Given the description of an element on the screen output the (x, y) to click on. 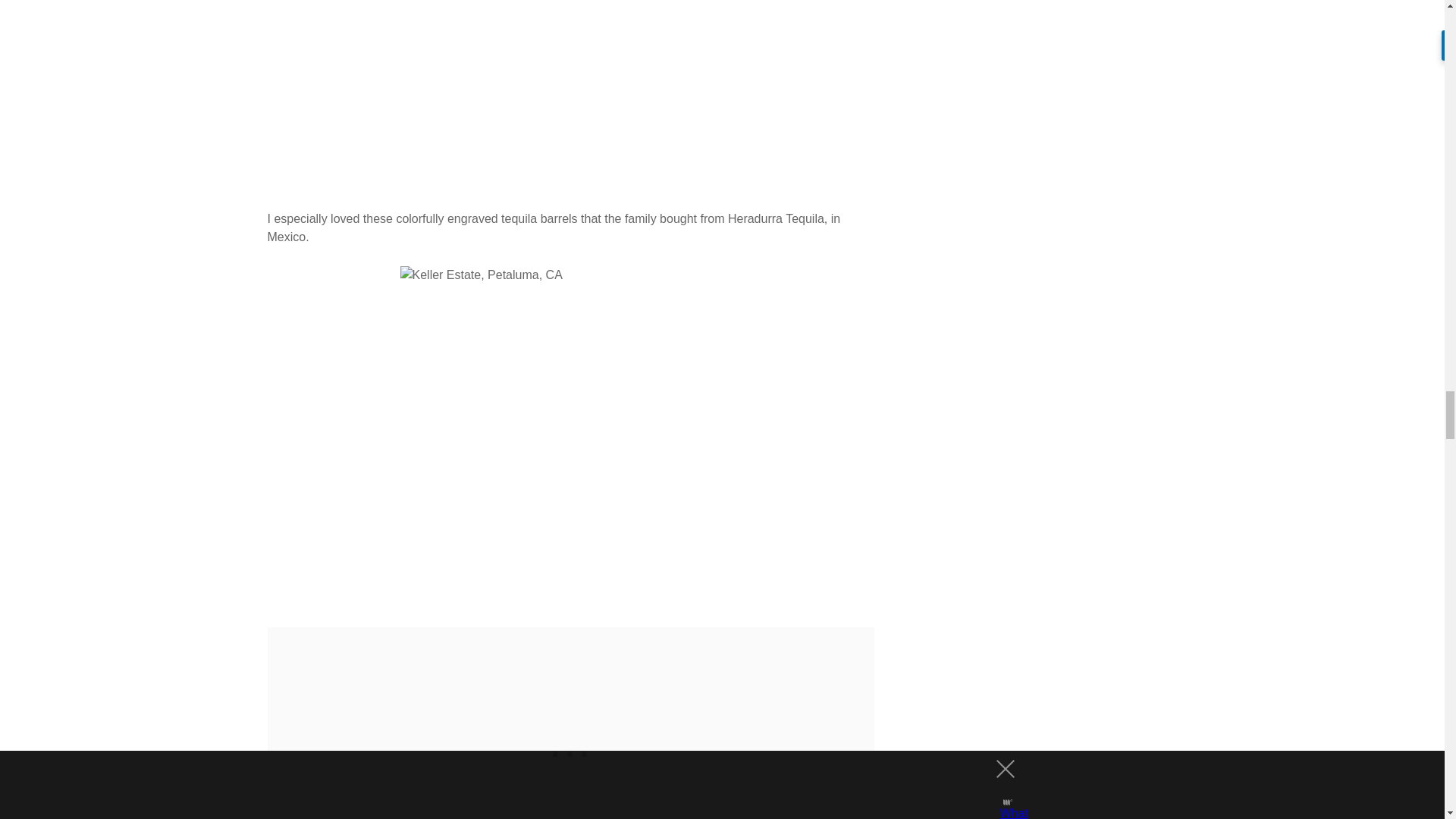
Keller Estate, Petaluma, CA (569, 95)
Keller Estate, Petaluma, CA (570, 436)
